Given the description of an element on the screen output the (x, y) to click on. 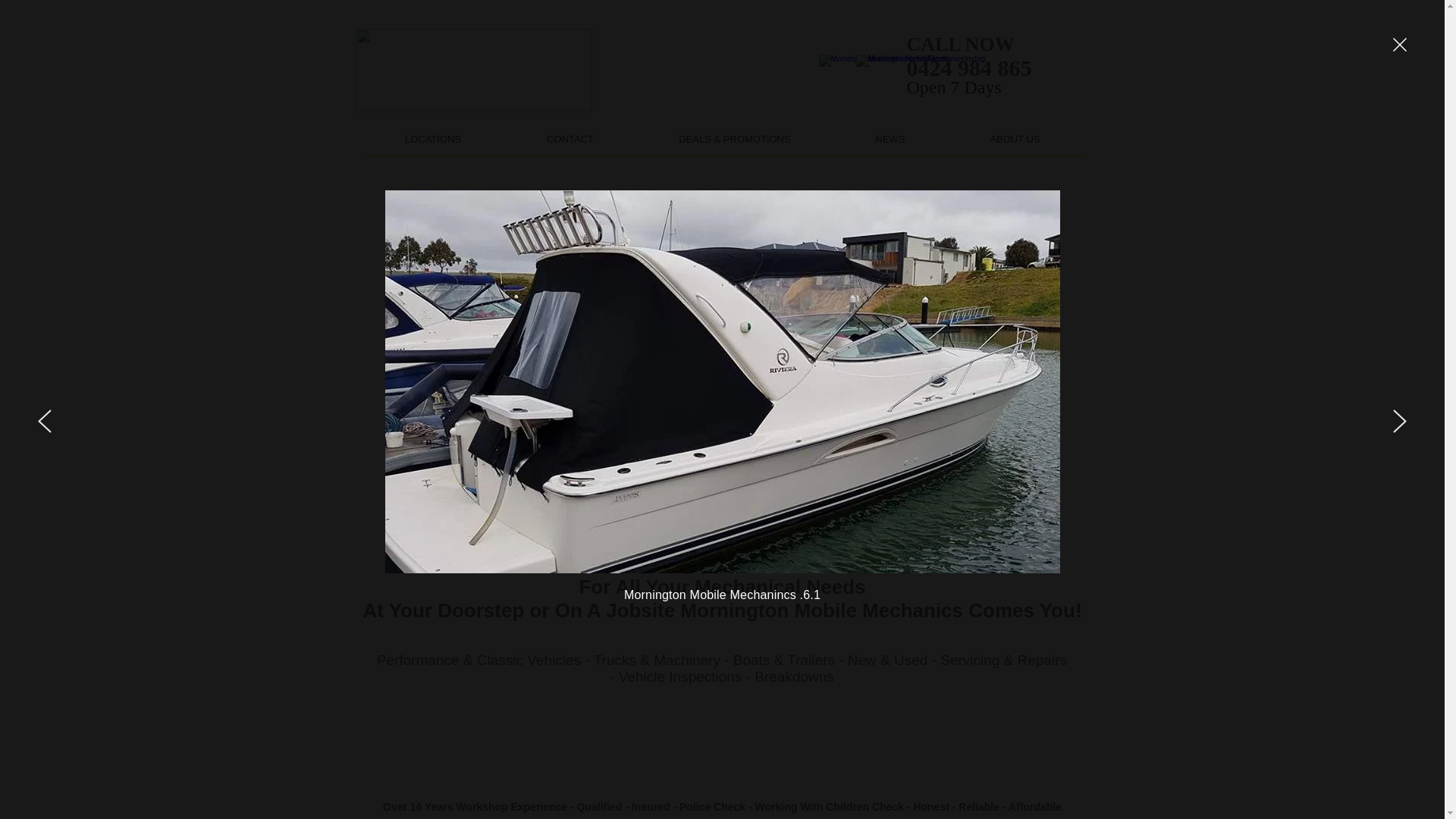
NEWS Element type: text (889, 143)
ABOUT US Element type: text (1014, 143)
LOCATIONS Element type: text (433, 143)
CONTACT Element type: text (569, 143)
DEALS & PROMOTIONS Element type: text (735, 143)
